Given the description of an element on the screen output the (x, y) to click on. 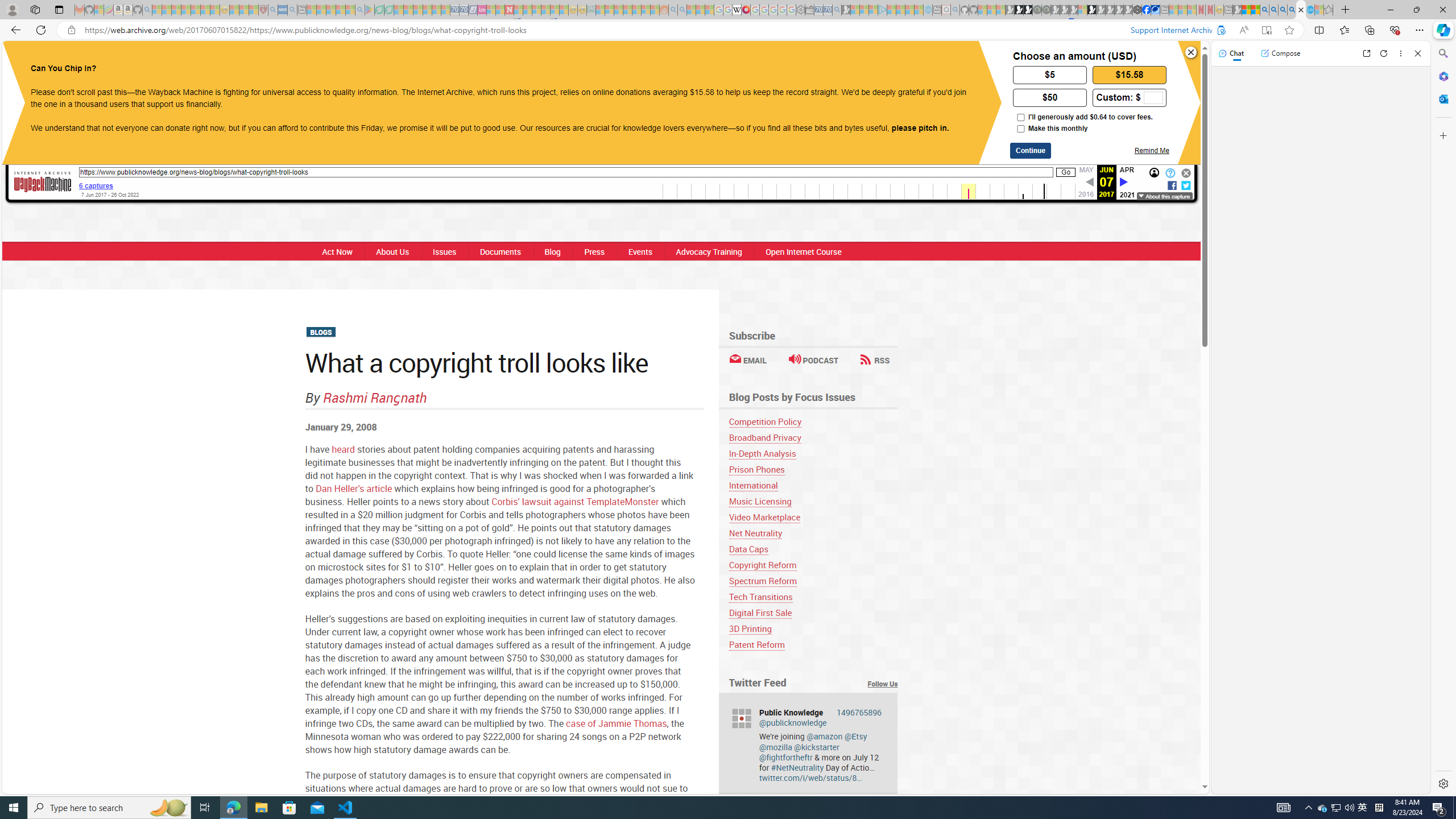
Digital First Sale (813, 612)
Custom: $ (1129, 96)
I'll generously add $0.64 to cover fees. (1020, 117)
International (813, 485)
Copyright Reform (813, 564)
Tech Transitions (813, 596)
ACT NOW (783, 60)
Patent Reform (756, 644)
Data Caps (748, 548)
github - Search - Sleeping (954, 9)
